Given the description of an element on the screen output the (x, y) to click on. 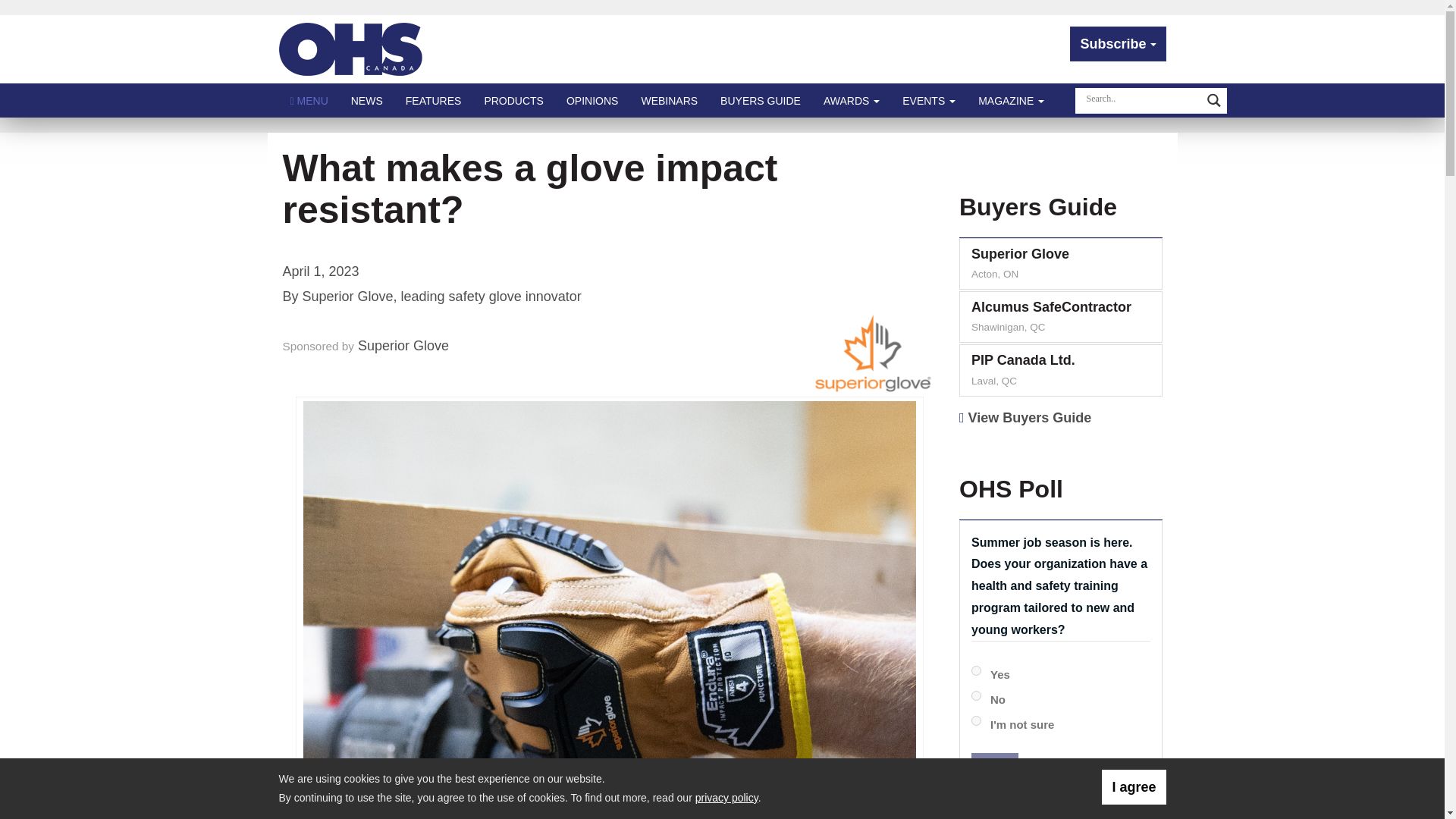
MENU (309, 100)
Click to show site navigation (309, 100)
gpoll188dfb902 (976, 696)
AWARDS (851, 100)
OPINIONS (591, 100)
Vote (994, 769)
gpoll135233128 (976, 670)
Subscribe (1118, 43)
EVENTS (928, 100)
WEBINARS (668, 100)
